Given the description of an element on the screen output the (x, y) to click on. 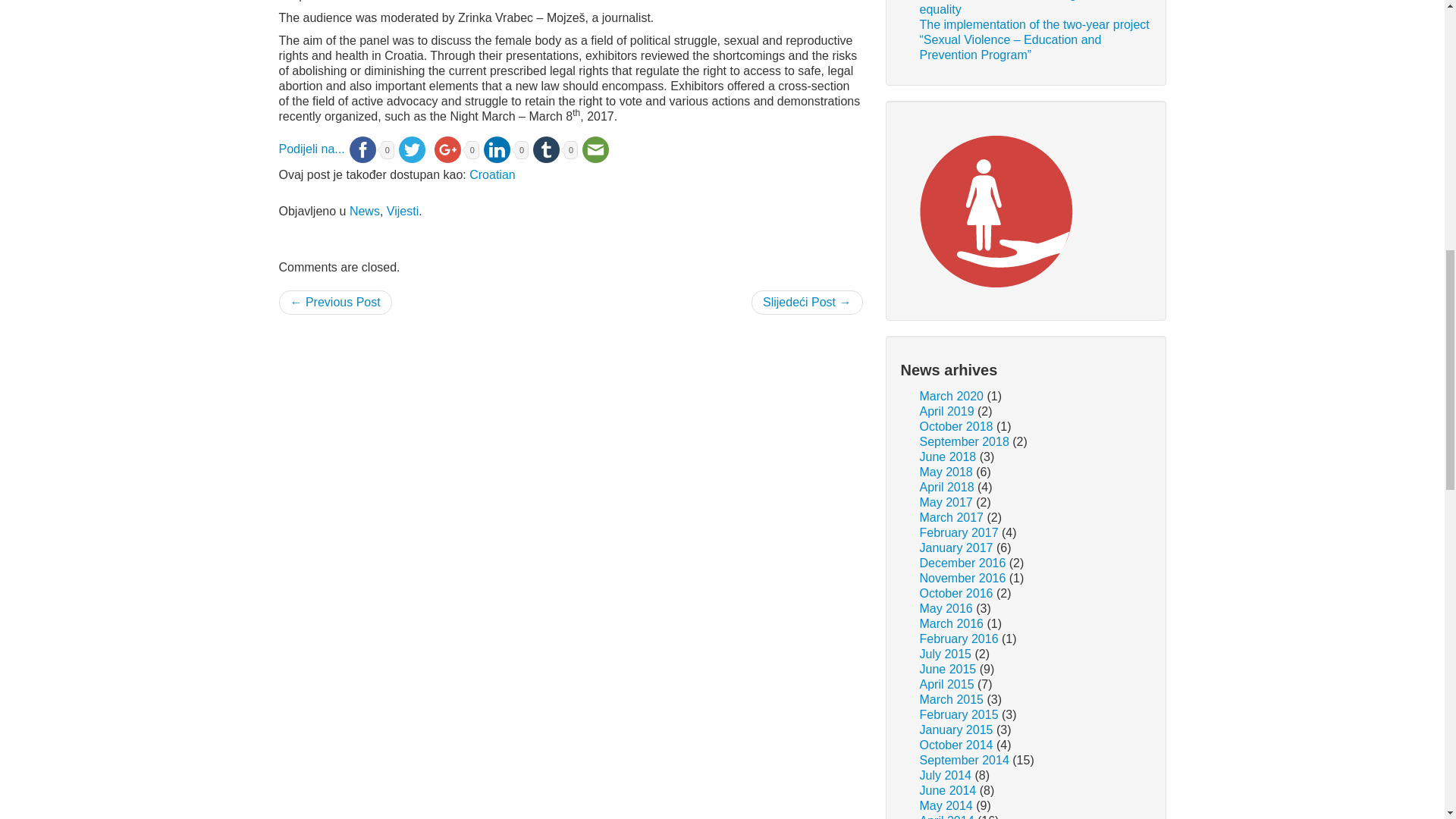
Twitter (411, 149)
Podijeli na... (312, 148)
Facebook (362, 149)
LinkedIn (497, 149)
